Given the description of an element on the screen output the (x, y) to click on. 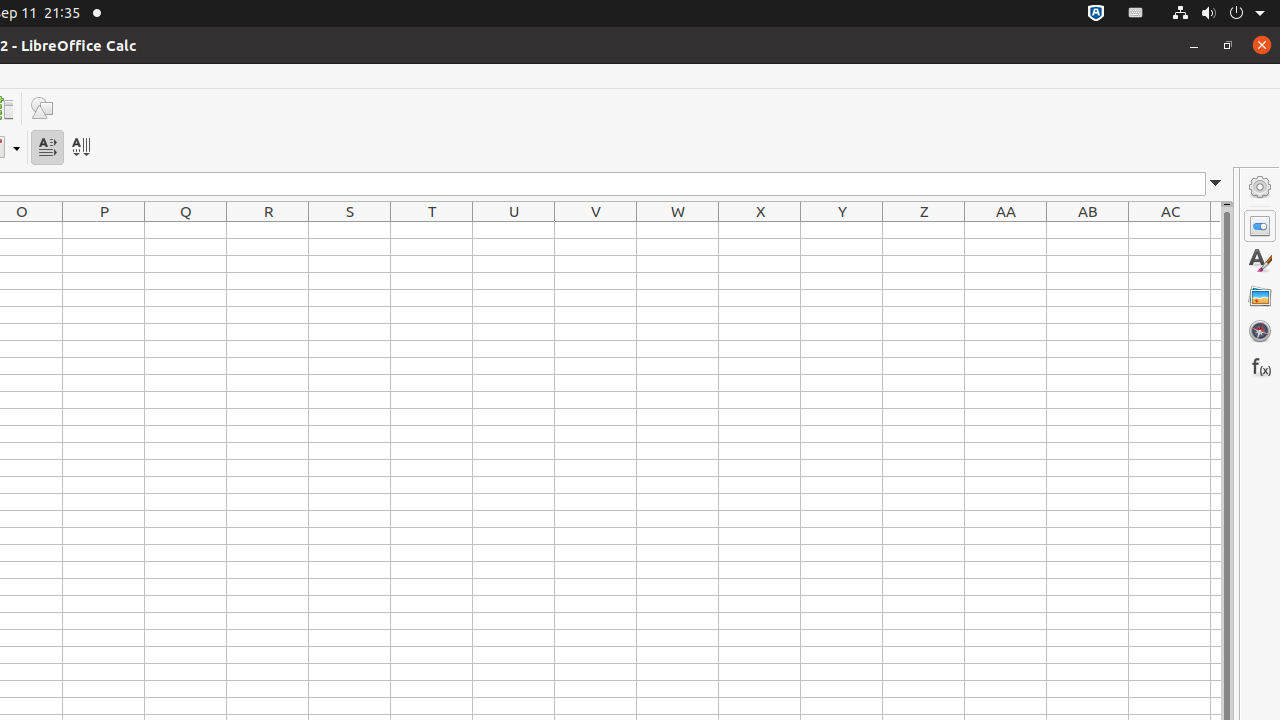
AA1 Element type: table-cell (1006, 230)
AC1 Element type: table-cell (1170, 230)
Expand Formula Bar Element type: push-button (1216, 183)
